Given the description of an element on the screen output the (x, y) to click on. 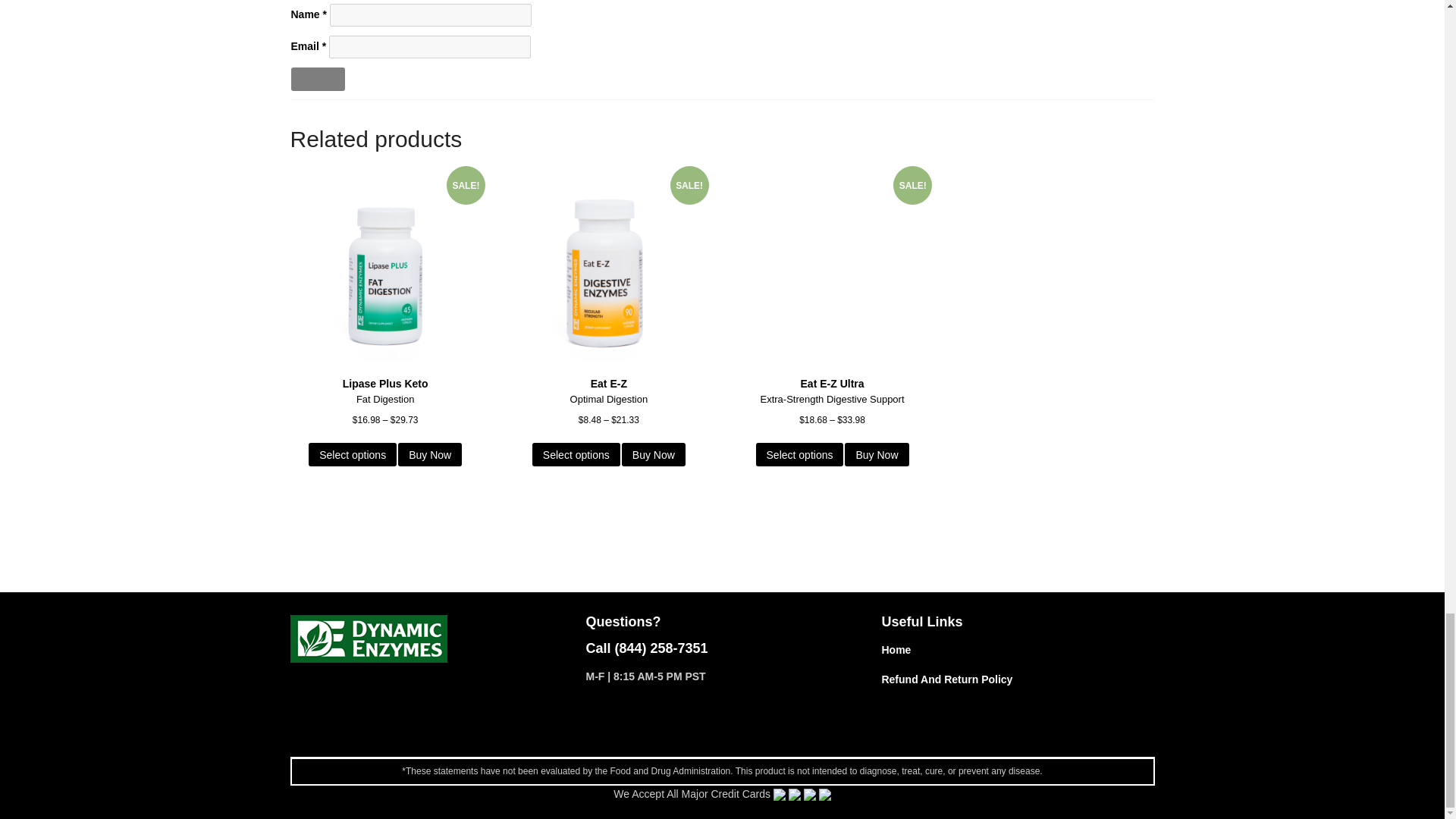
Submit (318, 78)
Refund And Return Policy (945, 679)
Select options (799, 454)
Buy Now (876, 454)
Select options (352, 454)
Buy Now (653, 454)
Submit (318, 78)
Buy Now (429, 454)
Home (895, 649)
Select options (576, 454)
